Given the description of an element on the screen output the (x, y) to click on. 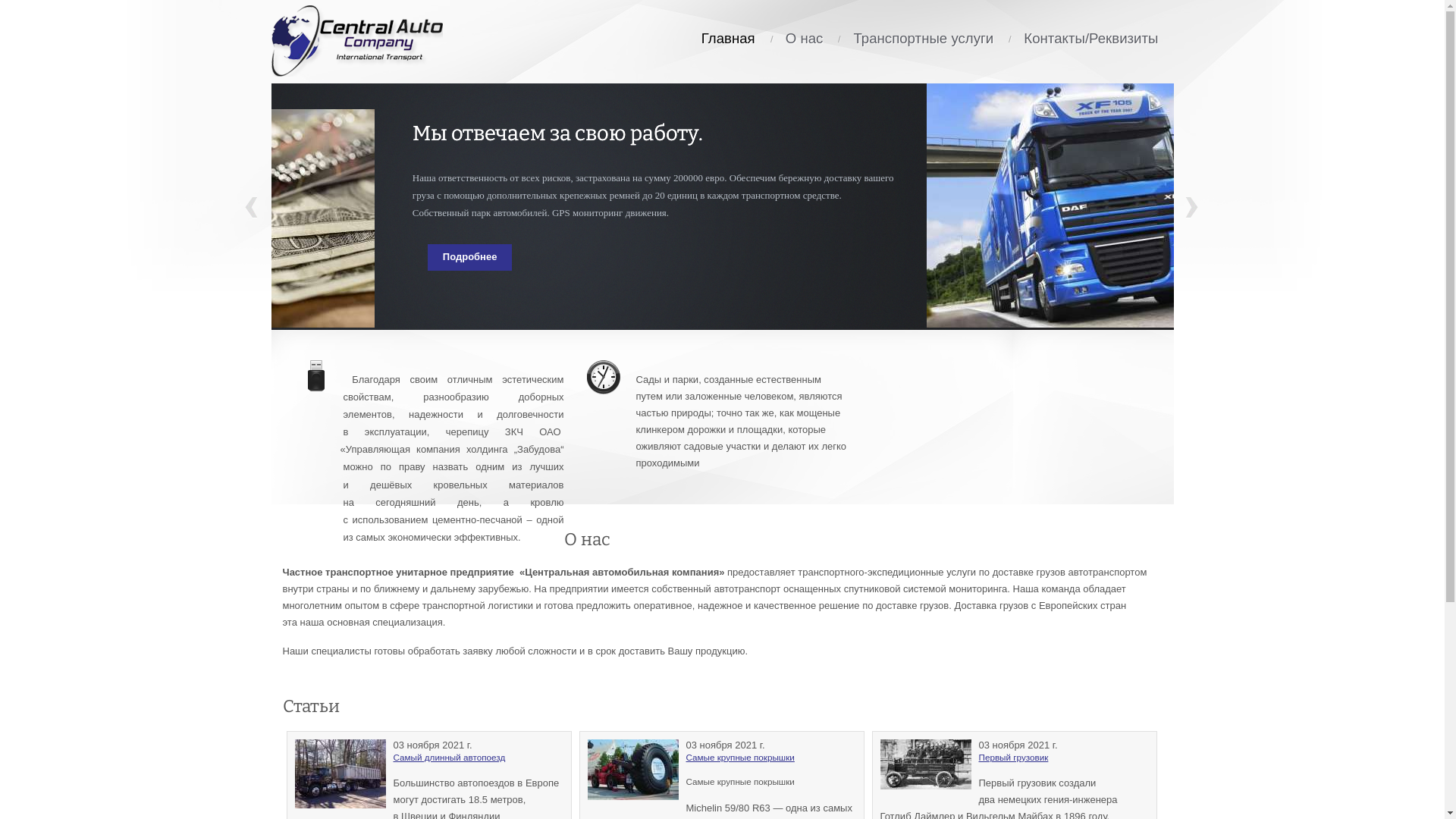
Next Element type: text (1191, 207)
Prev Element type: text (251, 207)
